Given the description of an element on the screen output the (x, y) to click on. 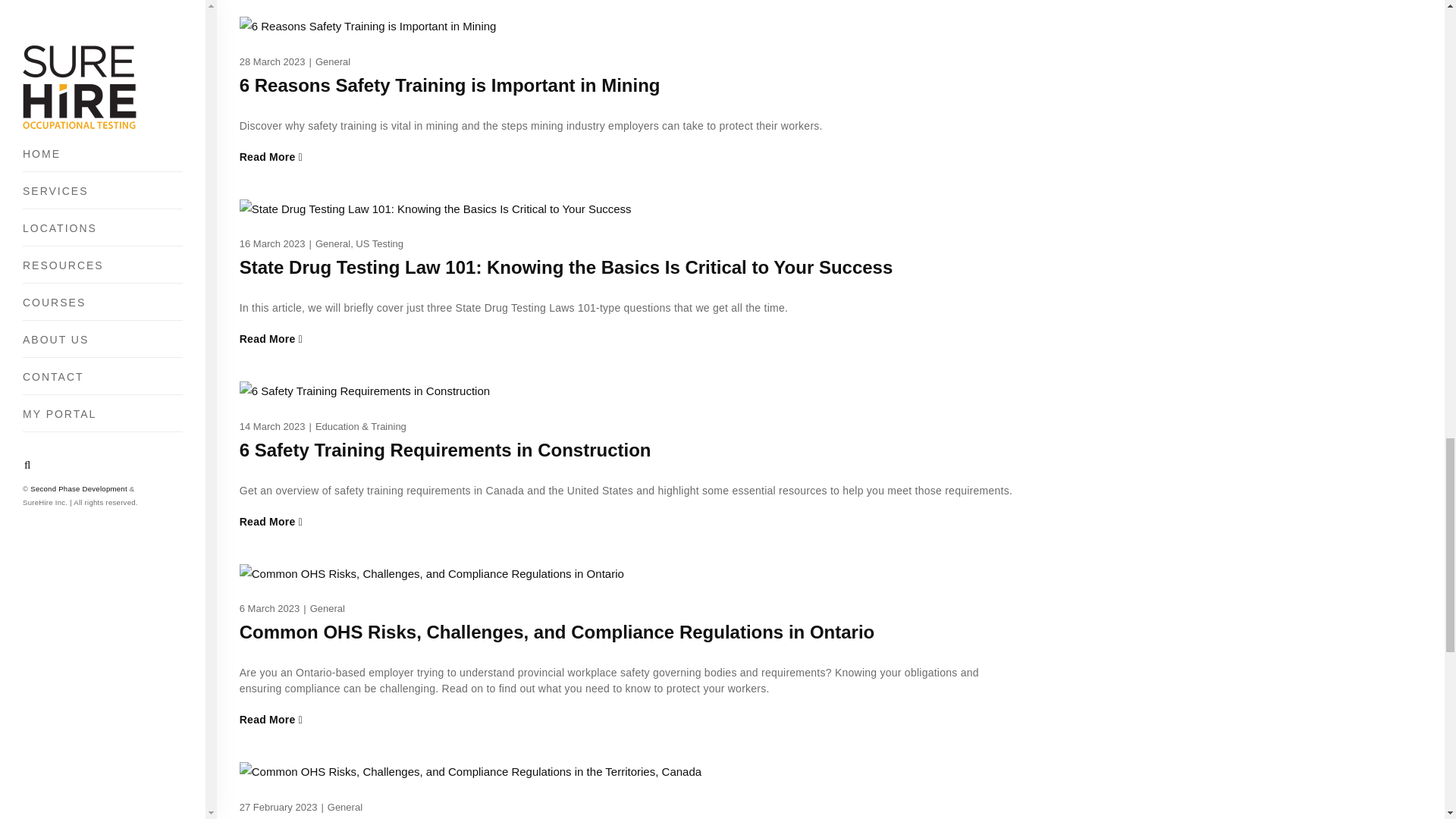
General (332, 61)
US Testing (379, 243)
Read More (630, 157)
Read More (630, 339)
General (332, 243)
6 Reasons Safety Training is Important in Mining (450, 85)
